Given the description of an element on the screen output the (x, y) to click on. 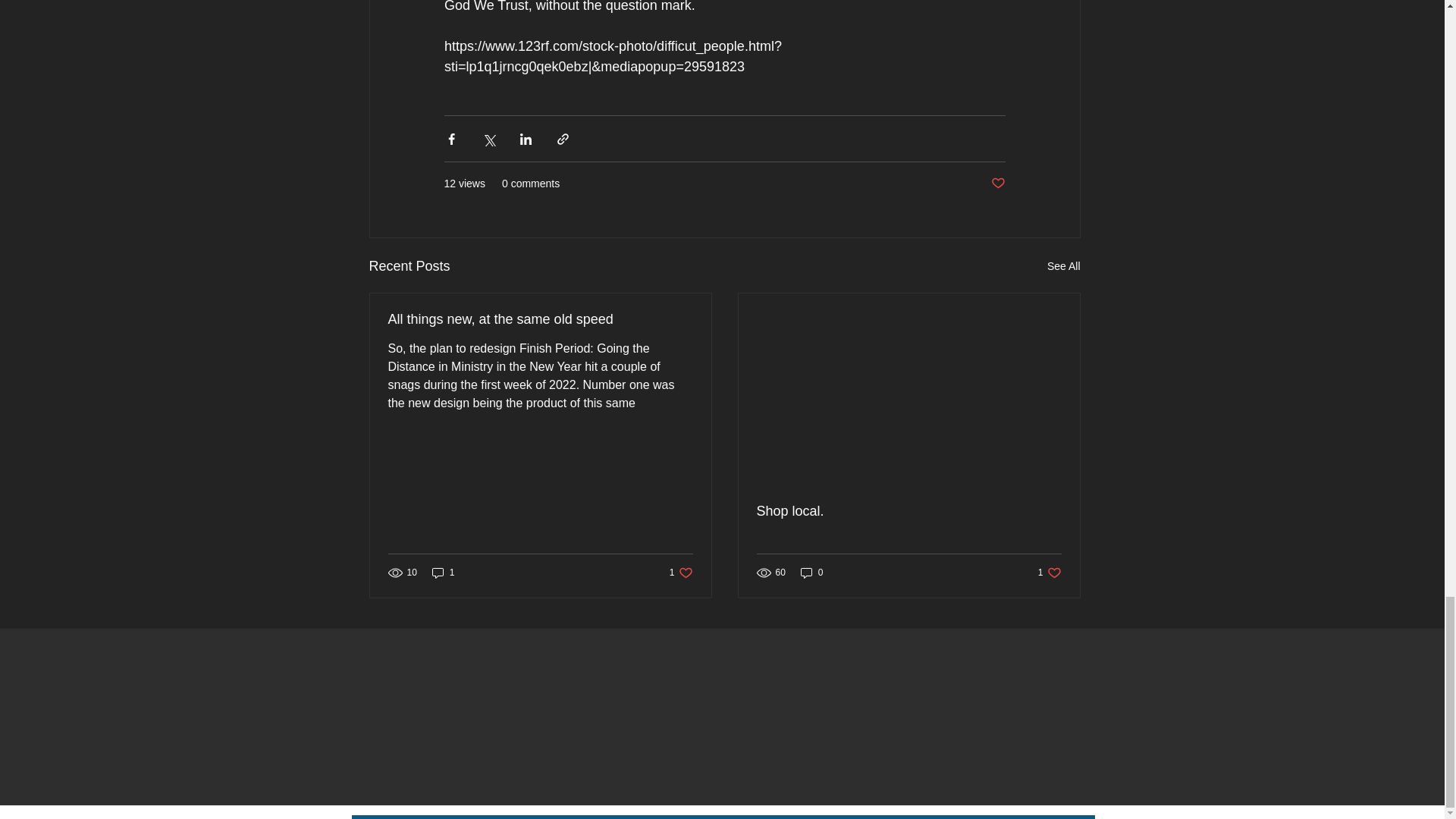
0 (812, 572)
See All (1063, 266)
Post not marked as liked (681, 572)
All things new, at the same old speed (997, 183)
1 (540, 319)
Shop local. (443, 572)
